Given the description of an element on the screen output the (x, y) to click on. 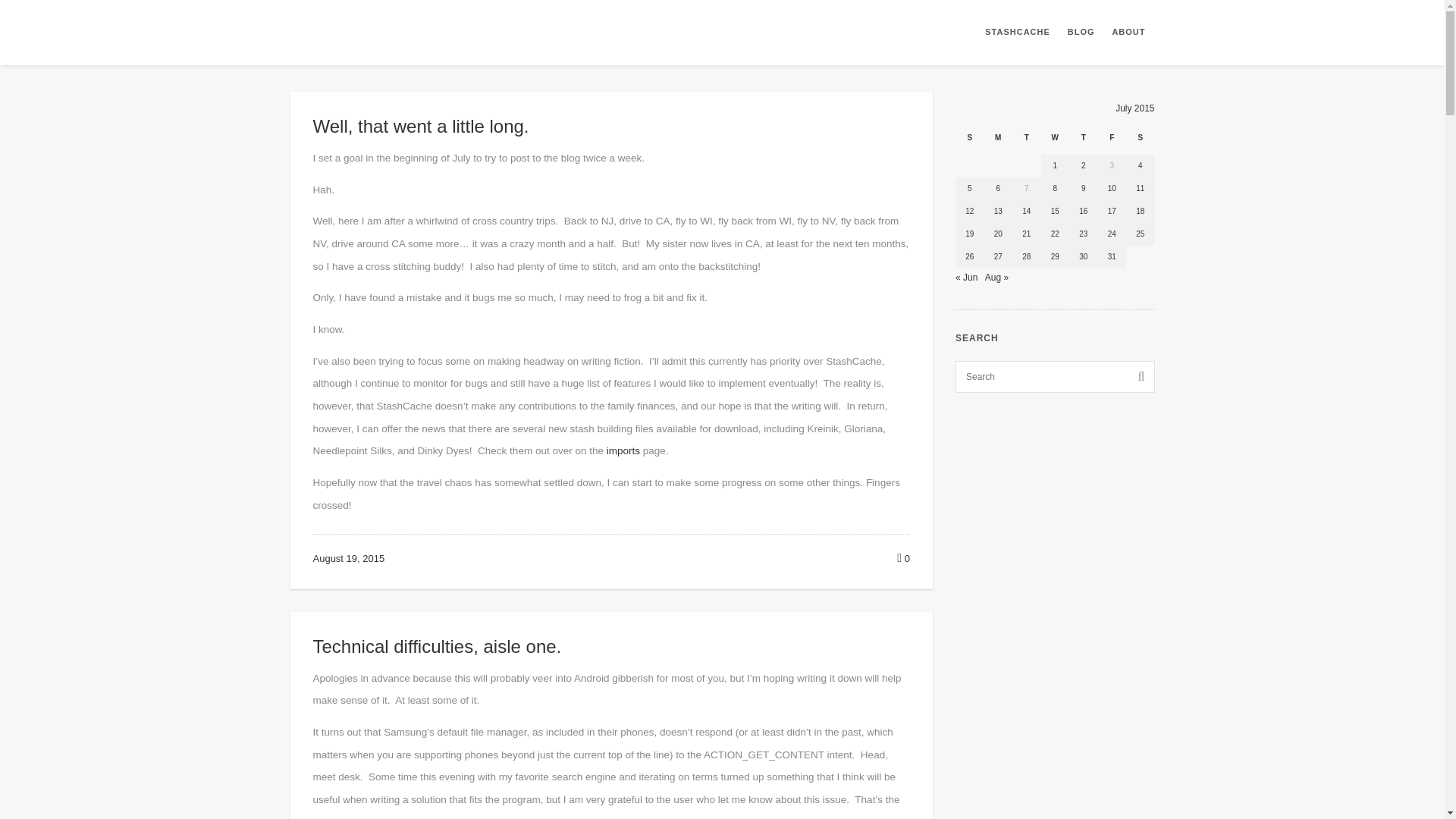
Technical difficulties, aisle one. (436, 646)
Monday (998, 141)
GEEK ECLECTIC (390, 32)
STASHCACHE (1017, 32)
Wednesday (1054, 141)
Sunday (969, 141)
Well, that went a little long. (420, 126)
Saturday (1139, 141)
Friday (1111, 141)
Tuesday (1026, 141)
imports (623, 450)
August 19, 2015 (348, 558)
0 (903, 558)
Thursday (1082, 141)
